Given the description of an element on the screen output the (x, y) to click on. 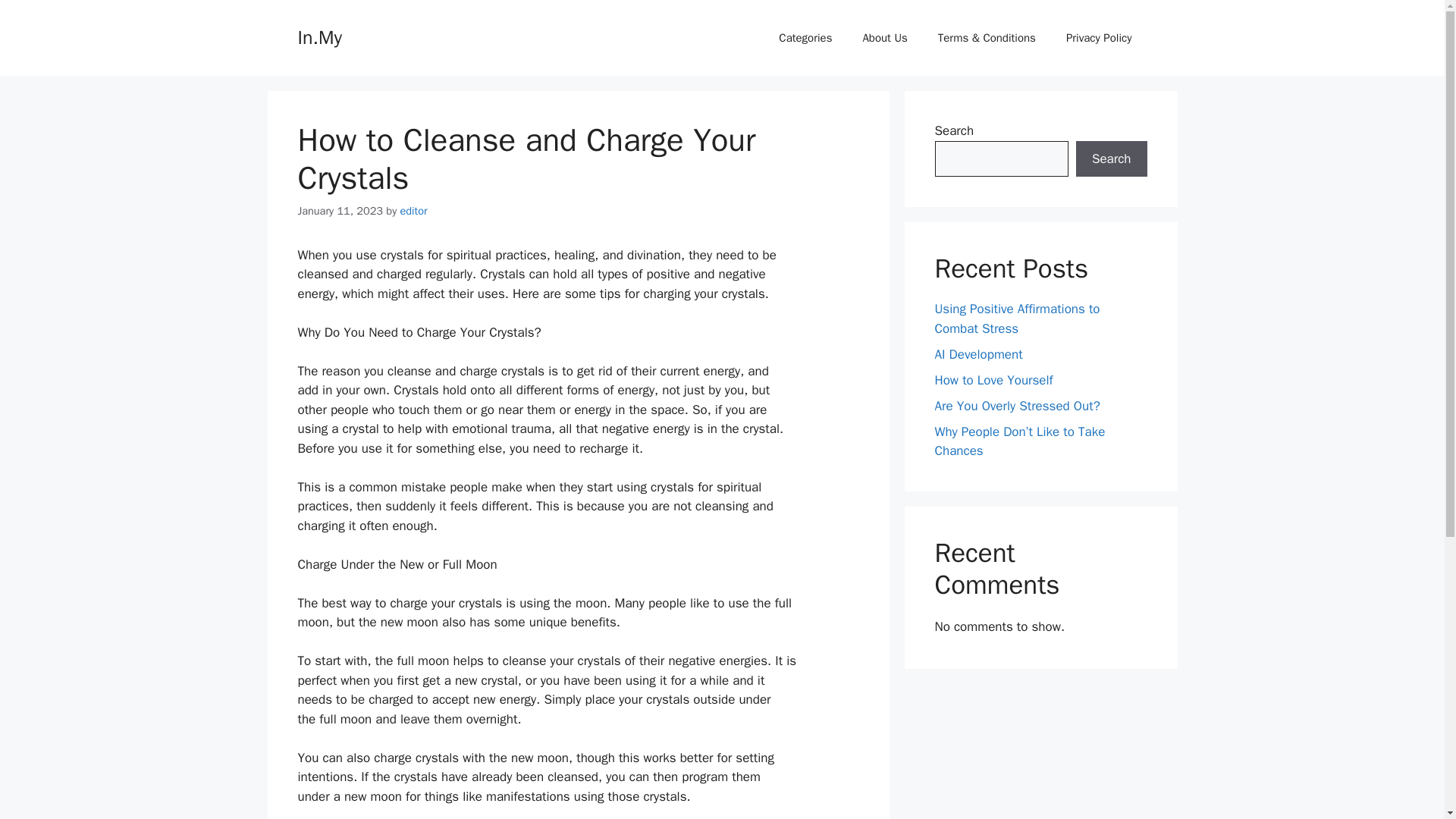
About Us (884, 37)
Privacy Policy (1099, 37)
Using Positive Affirmations to Combat Stress (1016, 318)
Search (1111, 158)
View all posts by editor (414, 210)
How to Love Yourself (993, 379)
In.My (318, 37)
Are You Overly Stressed Out? (1016, 405)
editor (414, 210)
Categories (804, 37)
AI Development (978, 353)
